Given the description of an element on the screen output the (x, y) to click on. 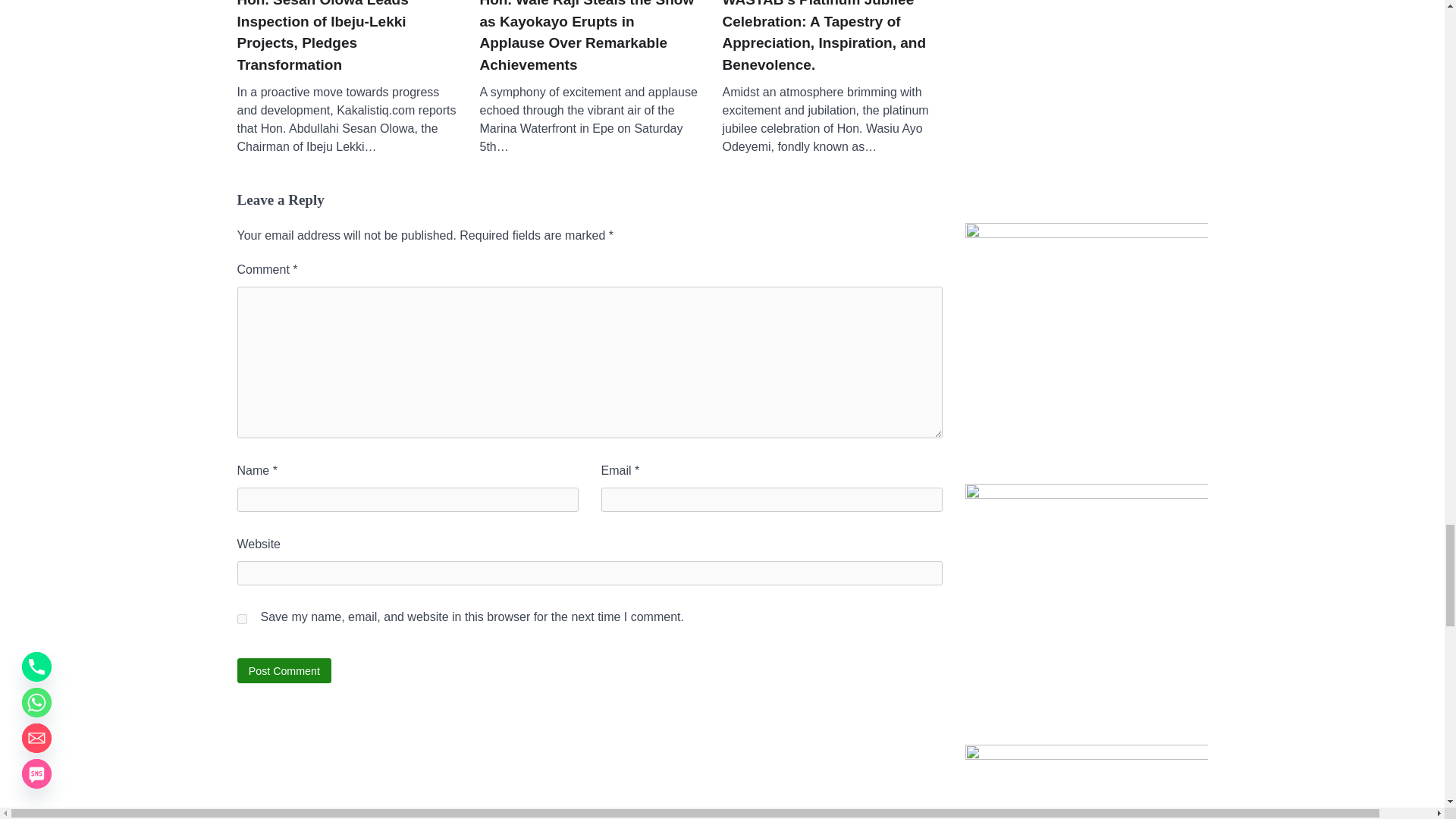
yes (240, 619)
Post Comment (283, 670)
Post Comment (283, 670)
